Given the description of an element on the screen output the (x, y) to click on. 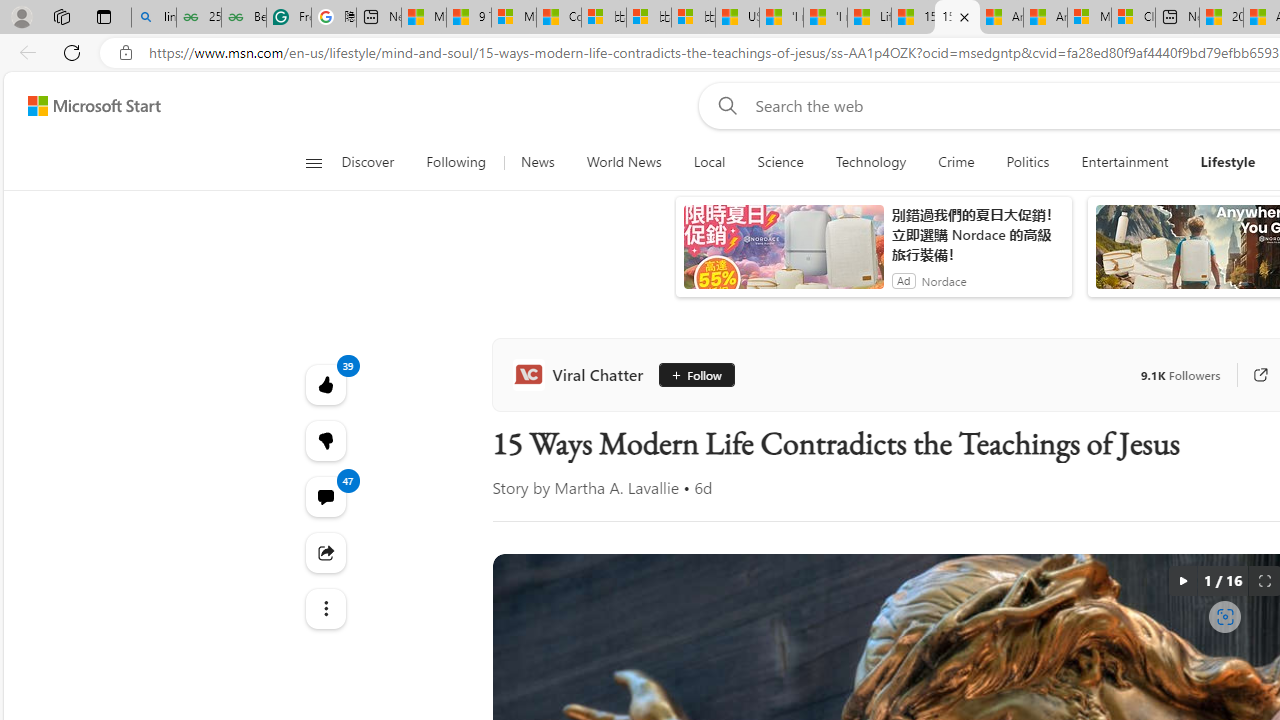
Following (457, 162)
Go to publisher's site (1260, 374)
Follow (696, 374)
Refresh (72, 52)
anim-content (783, 255)
USA TODAY - MSN (737, 17)
Ad (903, 280)
Local (708, 162)
Entertainment (1124, 162)
